Given the description of an element on the screen output the (x, y) to click on. 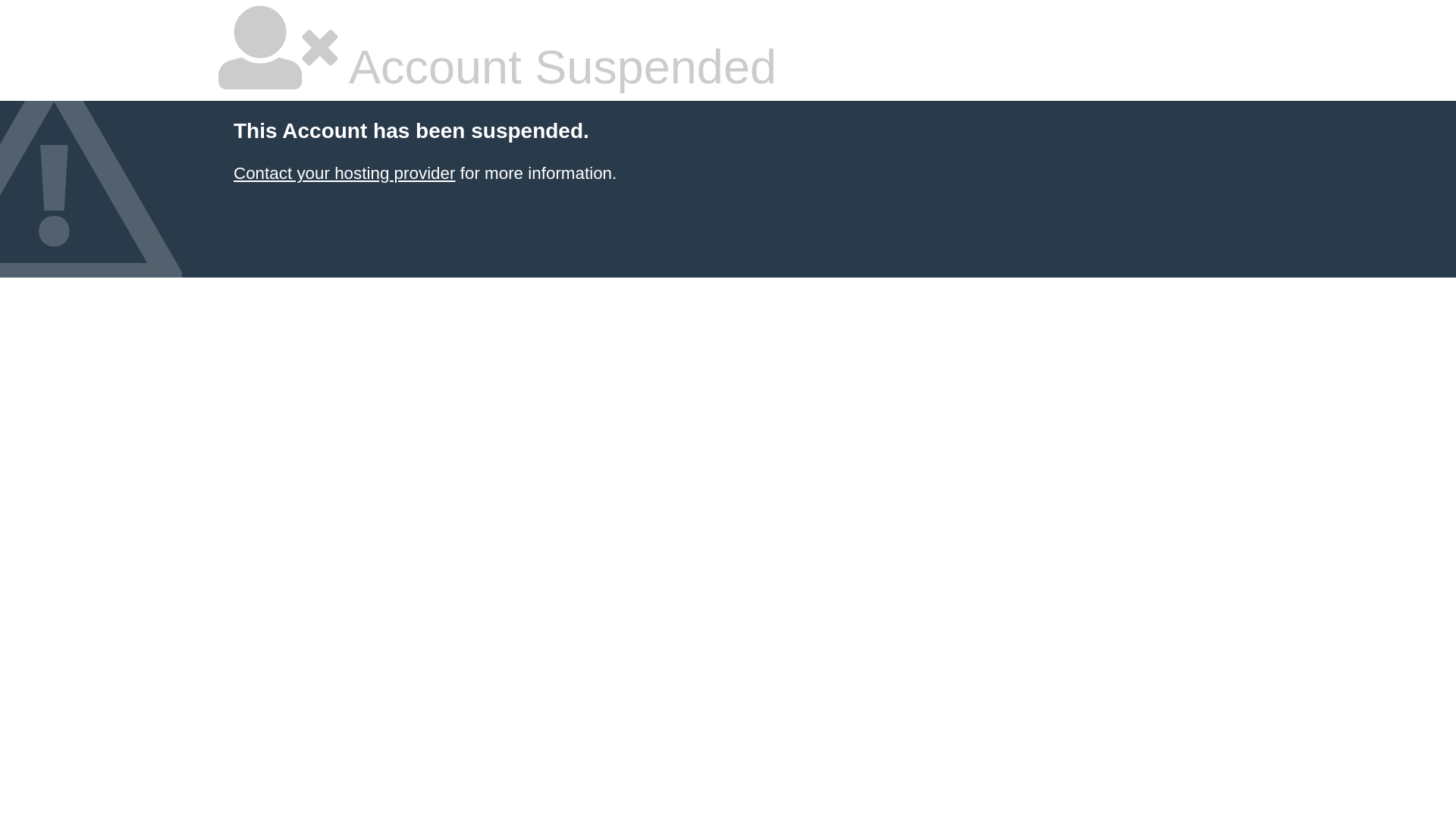
Contact your hosting provider Element type: text (344, 172)
